Given the description of an element on the screen output the (x, y) to click on. 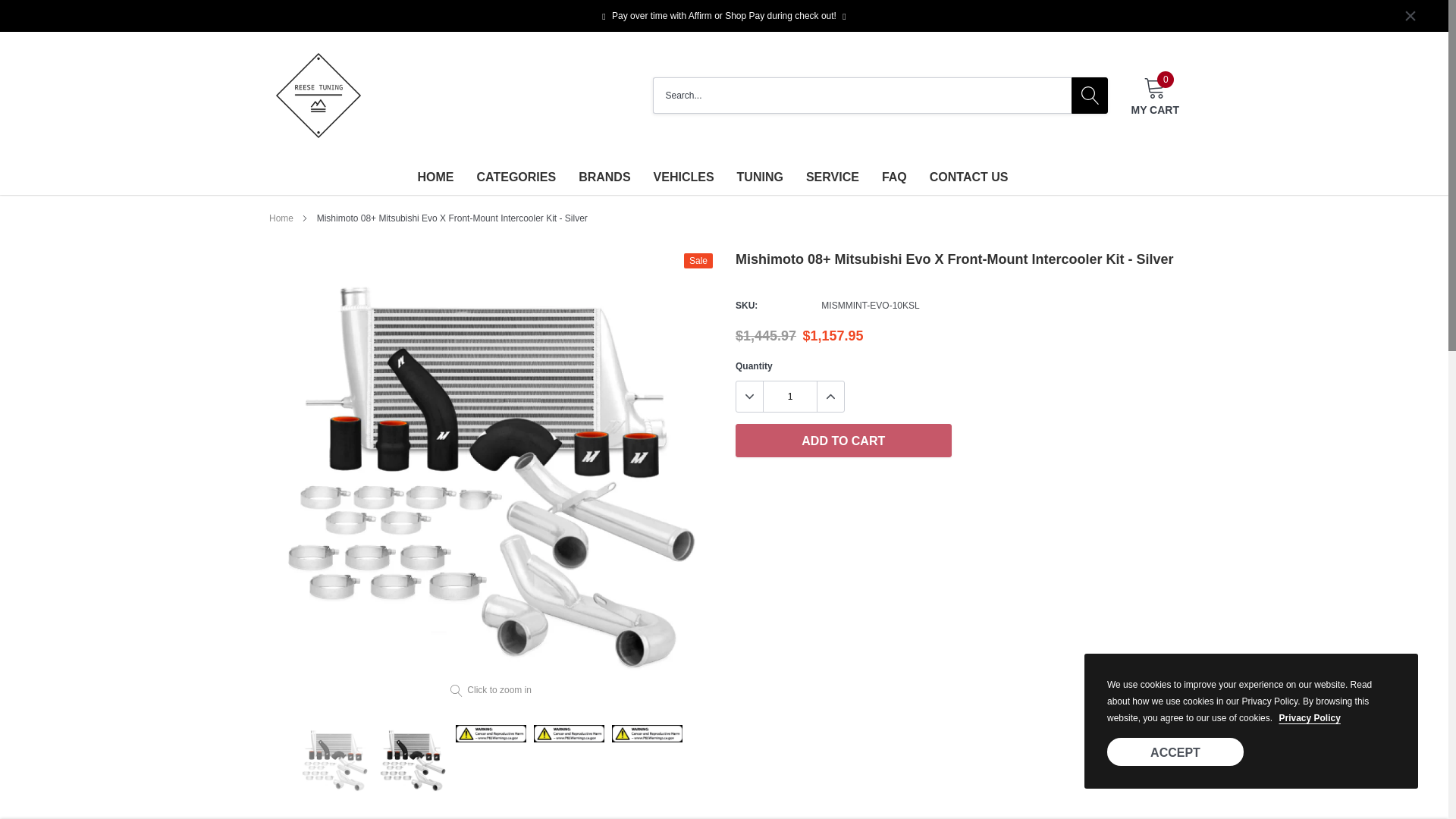
HOME (435, 176)
CATEGORIES (516, 176)
search (1089, 94)
1 (1155, 95)
